Given the description of an element on the screen output the (x, y) to click on. 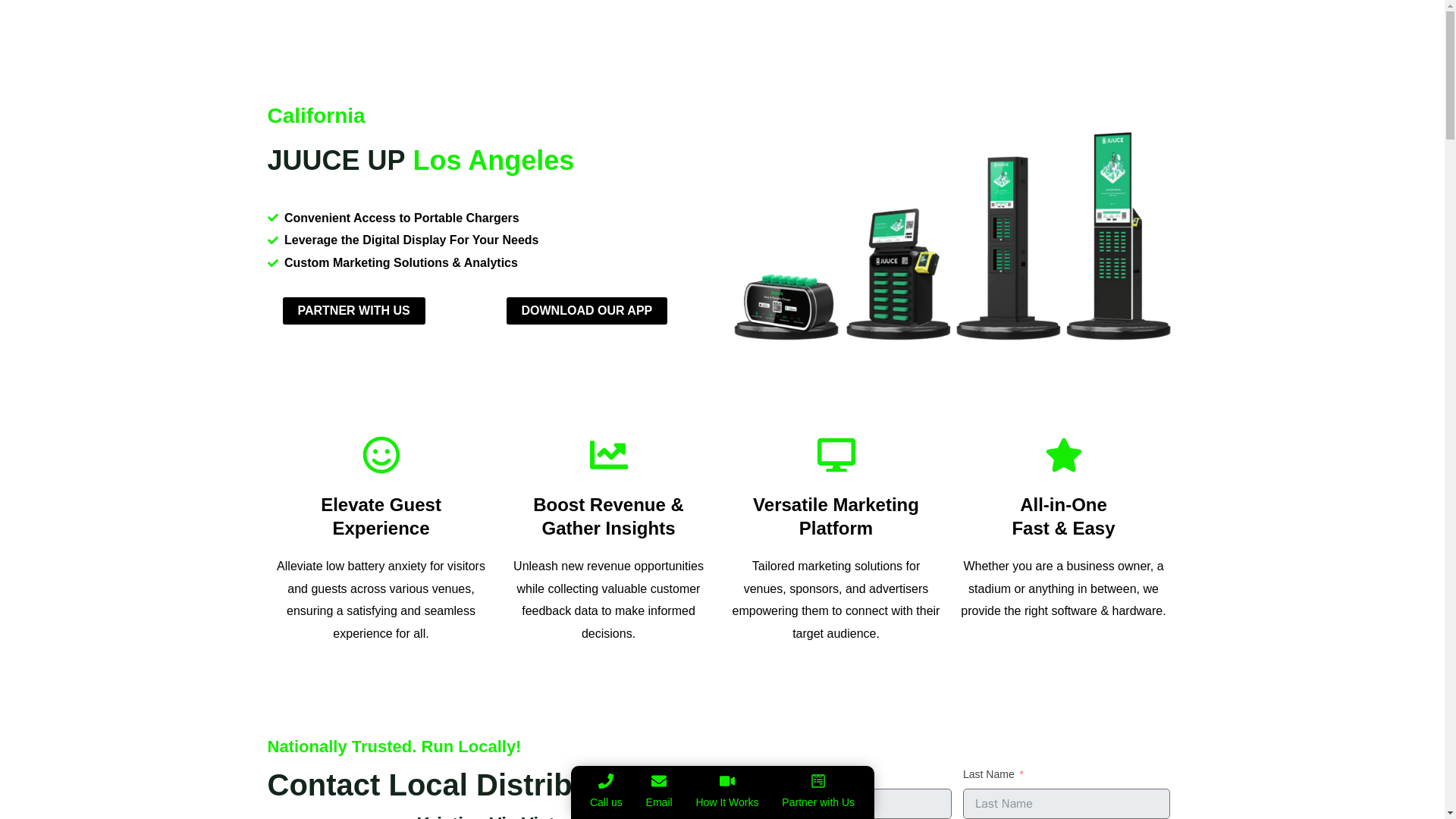
How It Works (727, 801)
Email (659, 801)
Partner with Us (818, 801)
Call us (605, 801)
PARTNER WITH US (353, 310)
DOWNLOAD OUR APP (587, 310)
